Given the description of an element on the screen output the (x, y) to click on. 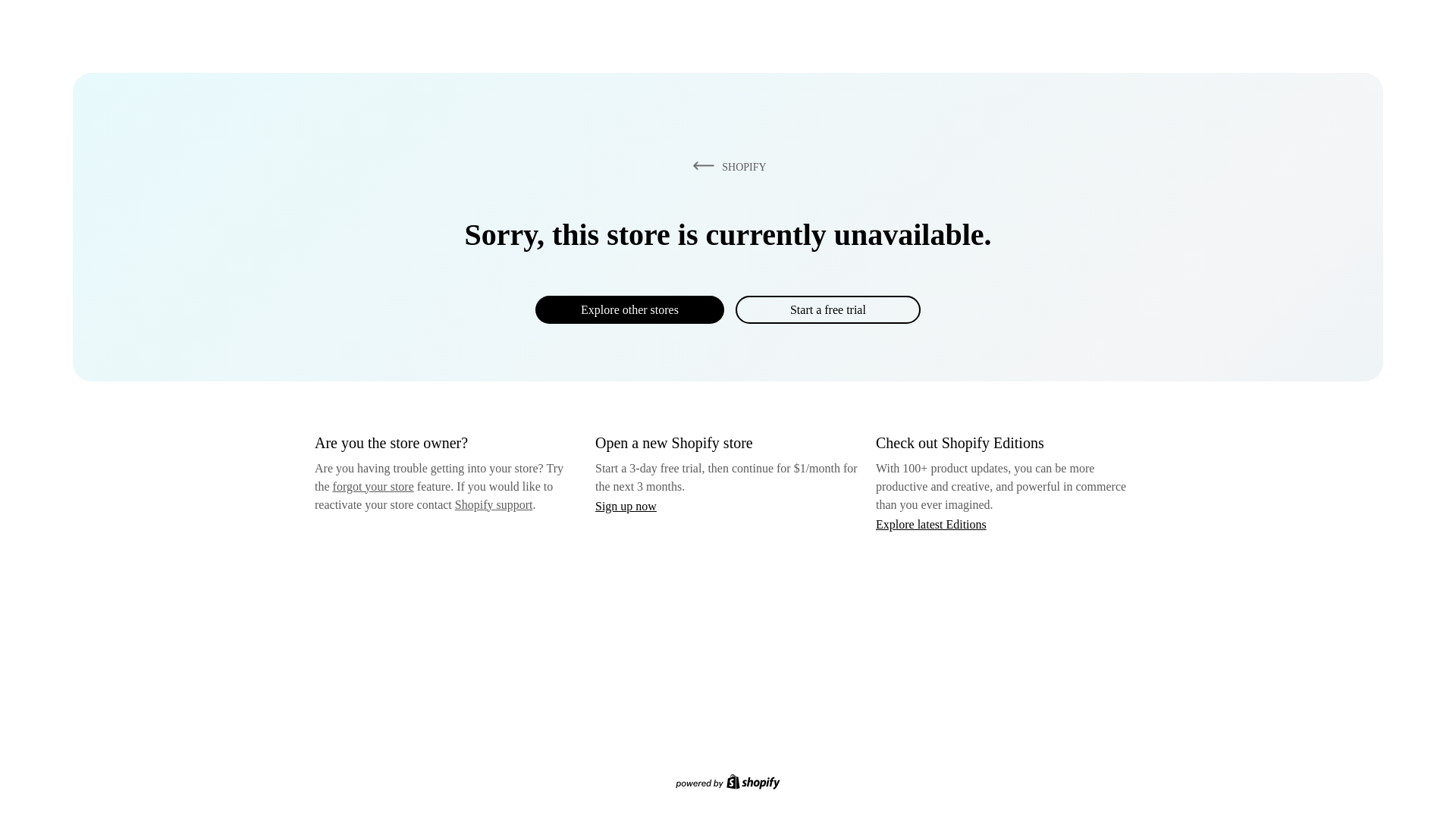
Start a free trial (827, 309)
Explore other stores (629, 309)
Explore latest Editions (931, 523)
forgot your store (373, 486)
SHOPIFY (726, 166)
Sign up now (625, 505)
Shopify support (493, 504)
